Given the description of an element on the screen output the (x, y) to click on. 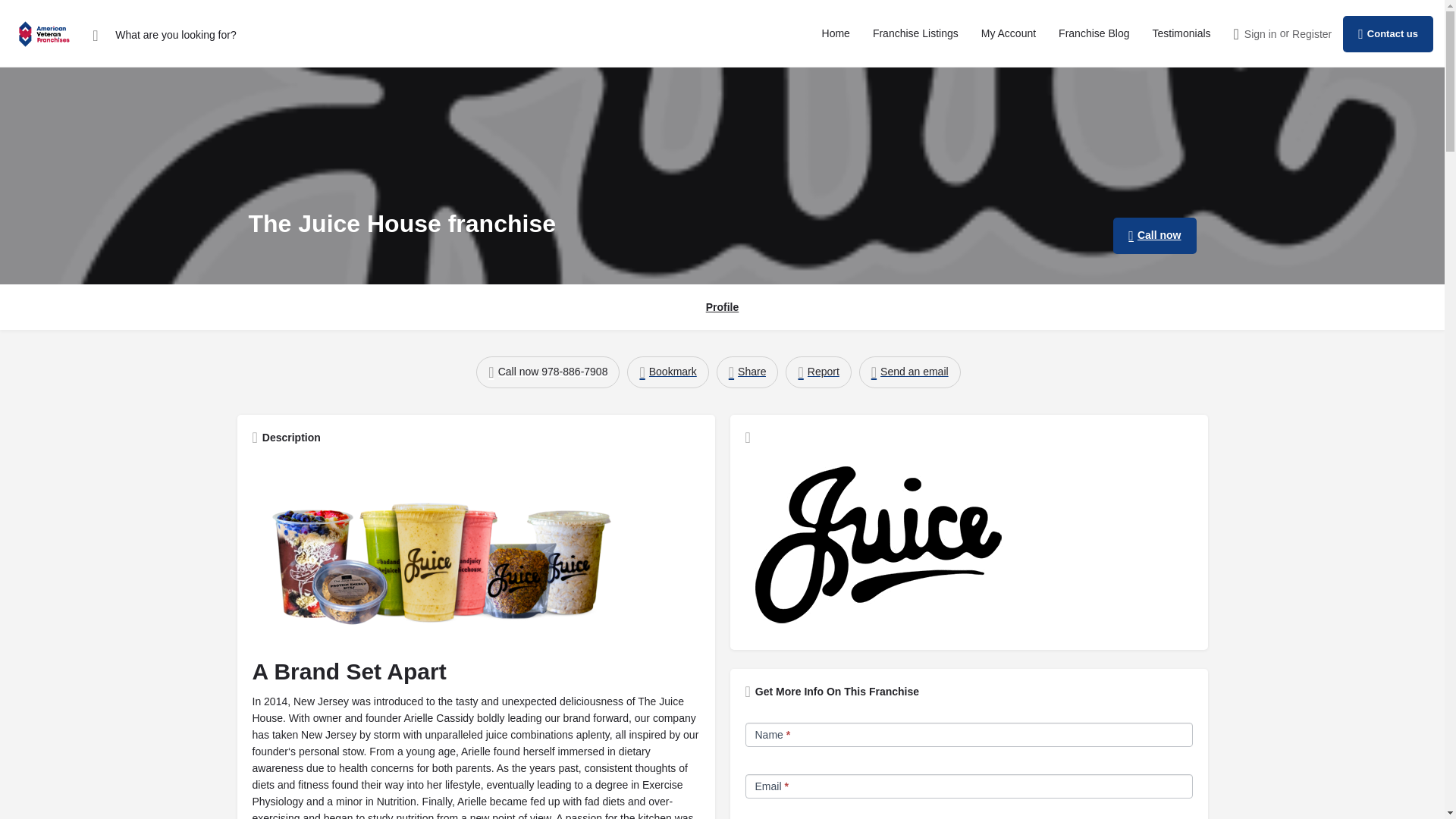
Call now (1154, 235)
Send an email (909, 372)
Call now 978-886-7908 (548, 372)
Franchise Listings (915, 32)
Contact us (1387, 33)
Franchise Blog (1093, 32)
Page 2 (474, 755)
Profile (722, 307)
Share (747, 372)
franchise conduit account (1008, 32)
